Given the description of an element on the screen output the (x, y) to click on. 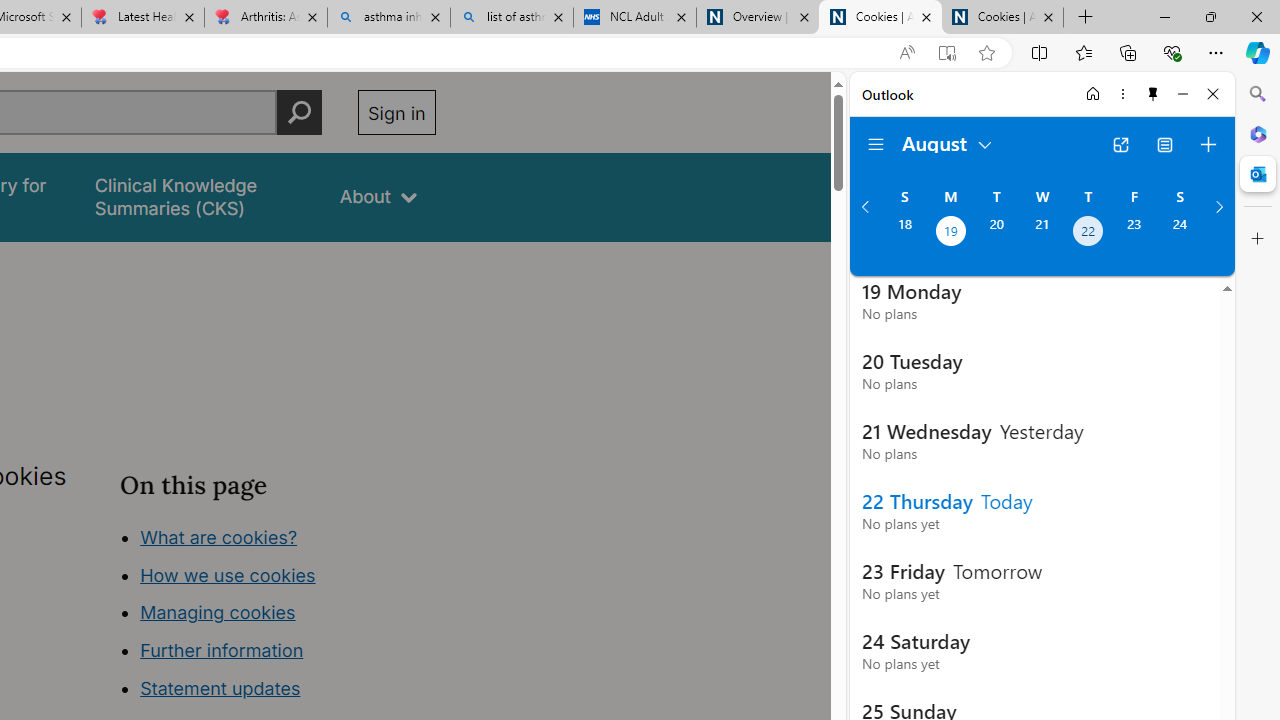
Close Outlook pane (1258, 174)
Unpin side pane (1153, 93)
Enter Immersive Reader (F9) (946, 53)
How we use cookies (227, 574)
View Switcher. Current view is Agenda view (1165, 144)
Close Customize pane (1258, 239)
Tuesday, August 20, 2024.  (996, 233)
Perform search (299, 112)
